Given the description of an element on the screen output the (x, y) to click on. 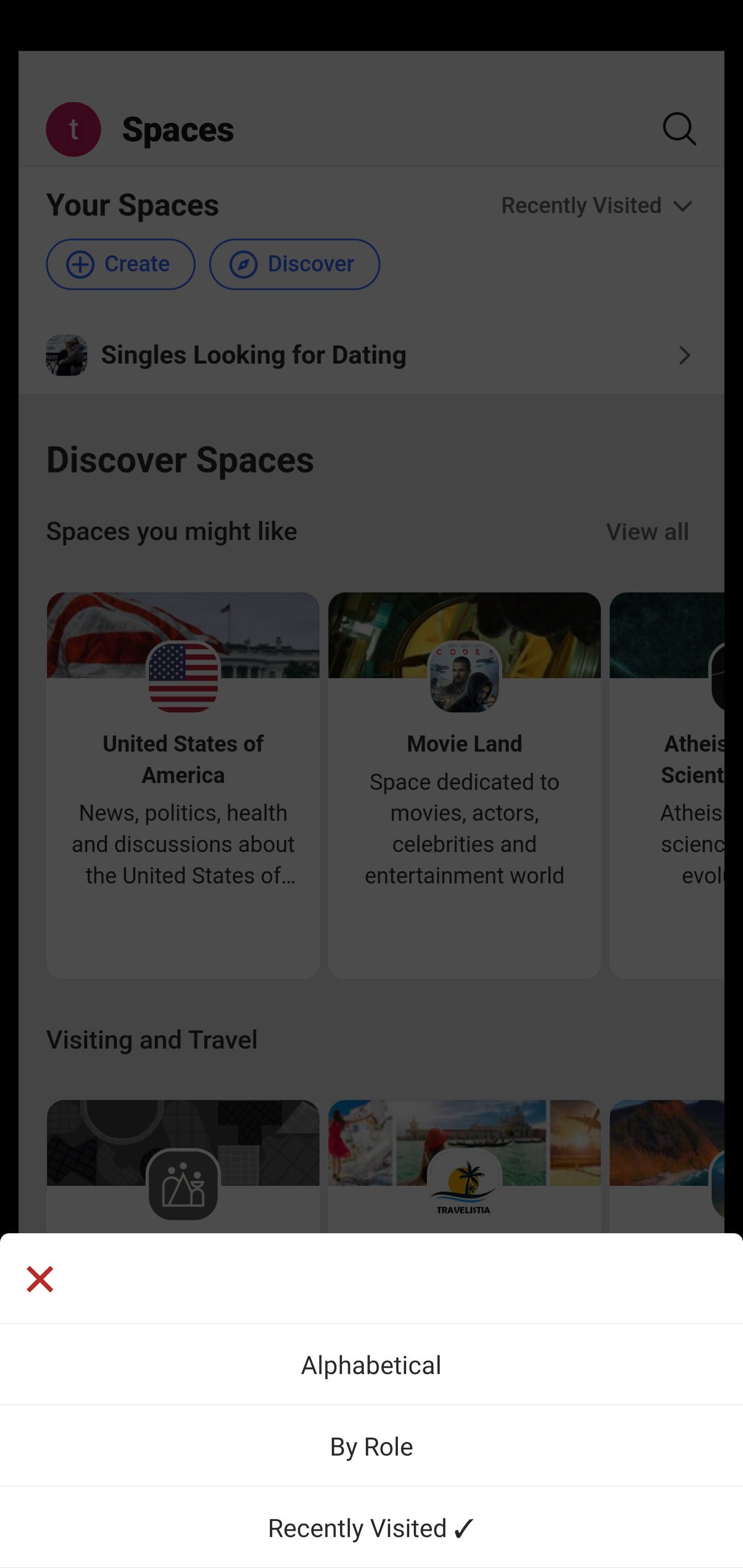
 (39, 1280)
Alphabetical (371, 1363)
By Role (371, 1445)
Recently Visited ✓ (371, 1527)
